Given the description of an element on the screen output the (x, y) to click on. 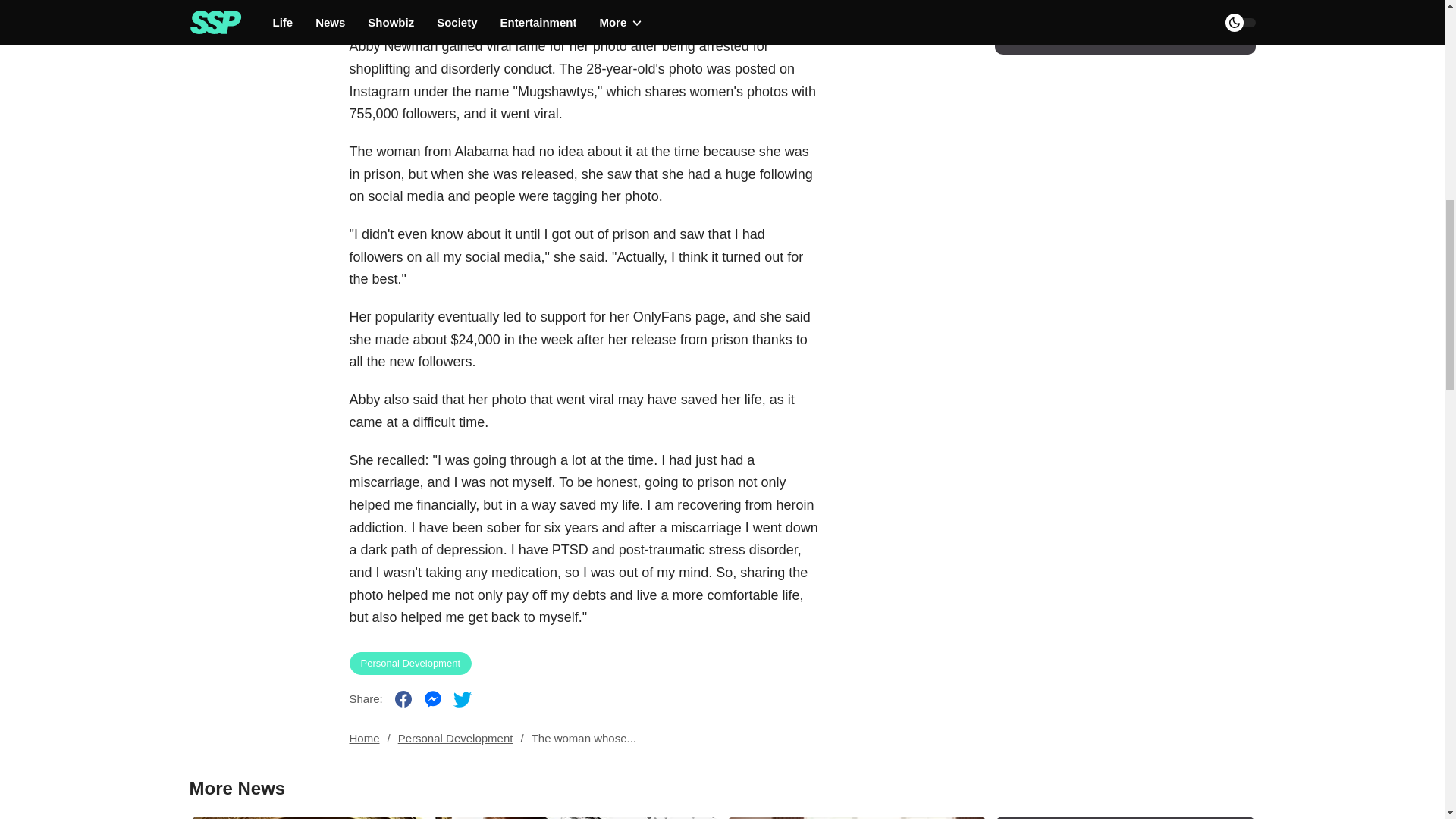
Personal Development (410, 662)
Personal Development (455, 738)
Home (363, 738)
